Given the description of an element on the screen output the (x, y) to click on. 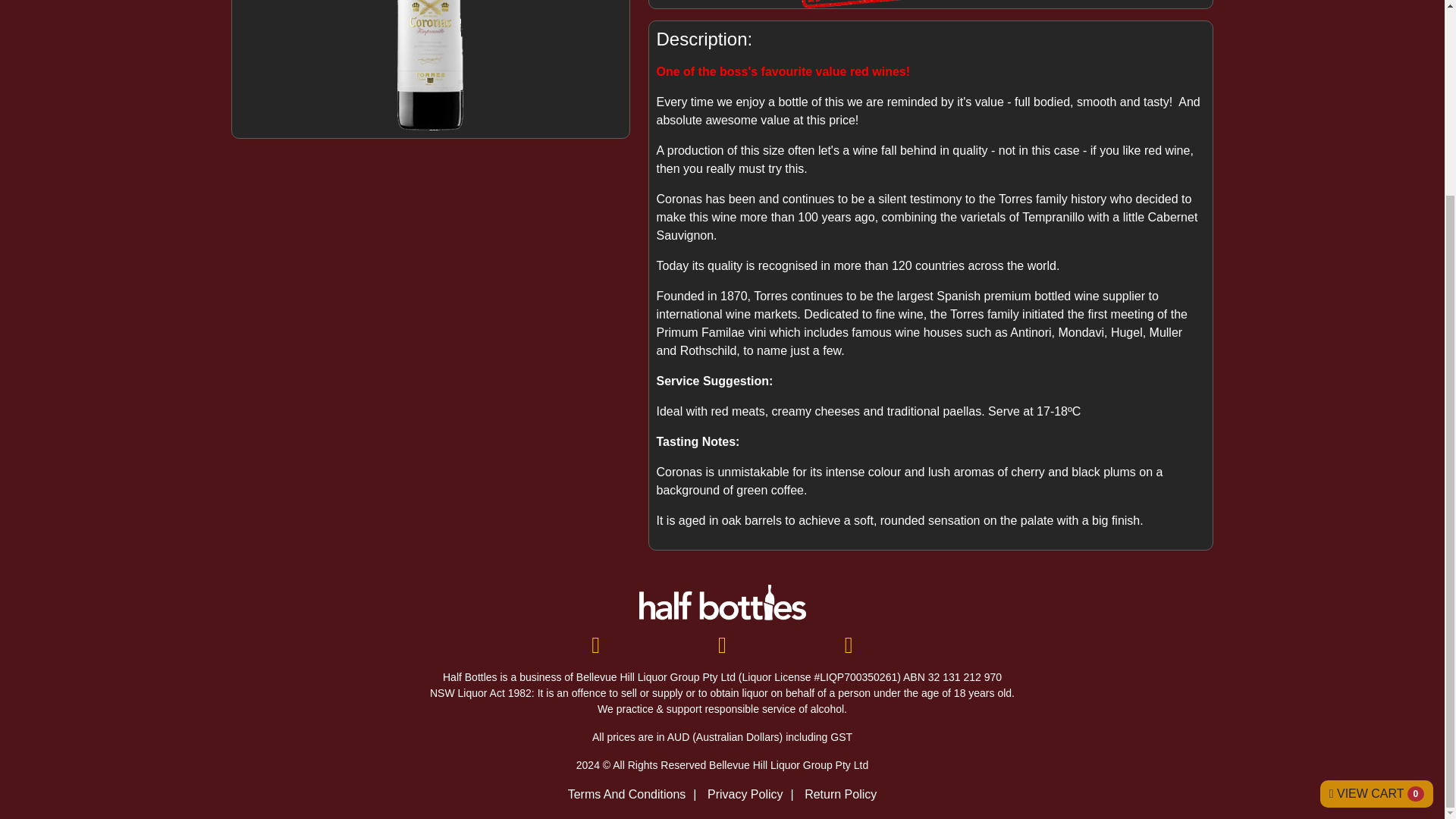
VIEW CART 0 (1376, 546)
